Given the description of an element on the screen output the (x, y) to click on. 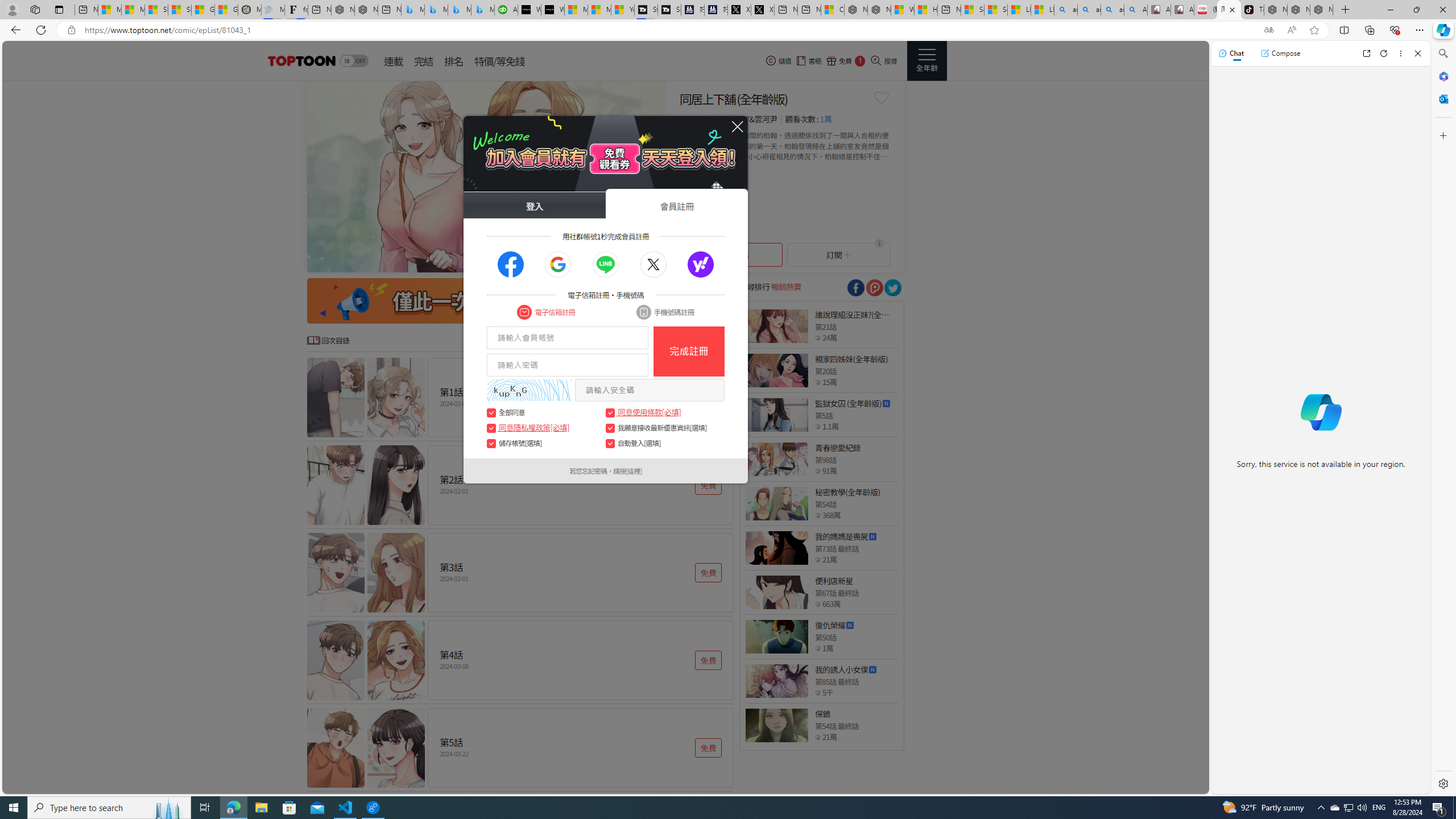
Amazon Echo Robot - Search Images (1135, 9)
Nordace Siena Pro 15 Backpack (1298, 9)
Refresh (1383, 53)
Customize (1442, 135)
Side bar (1443, 418)
New Tab (1346, 9)
Shanghai, China weather forecast | Microsoft Weather (179, 9)
Microsoft Bing Travel - Shangri-La Hotel Bangkok (482, 9)
